Given the description of an element on the screen output the (x, y) to click on. 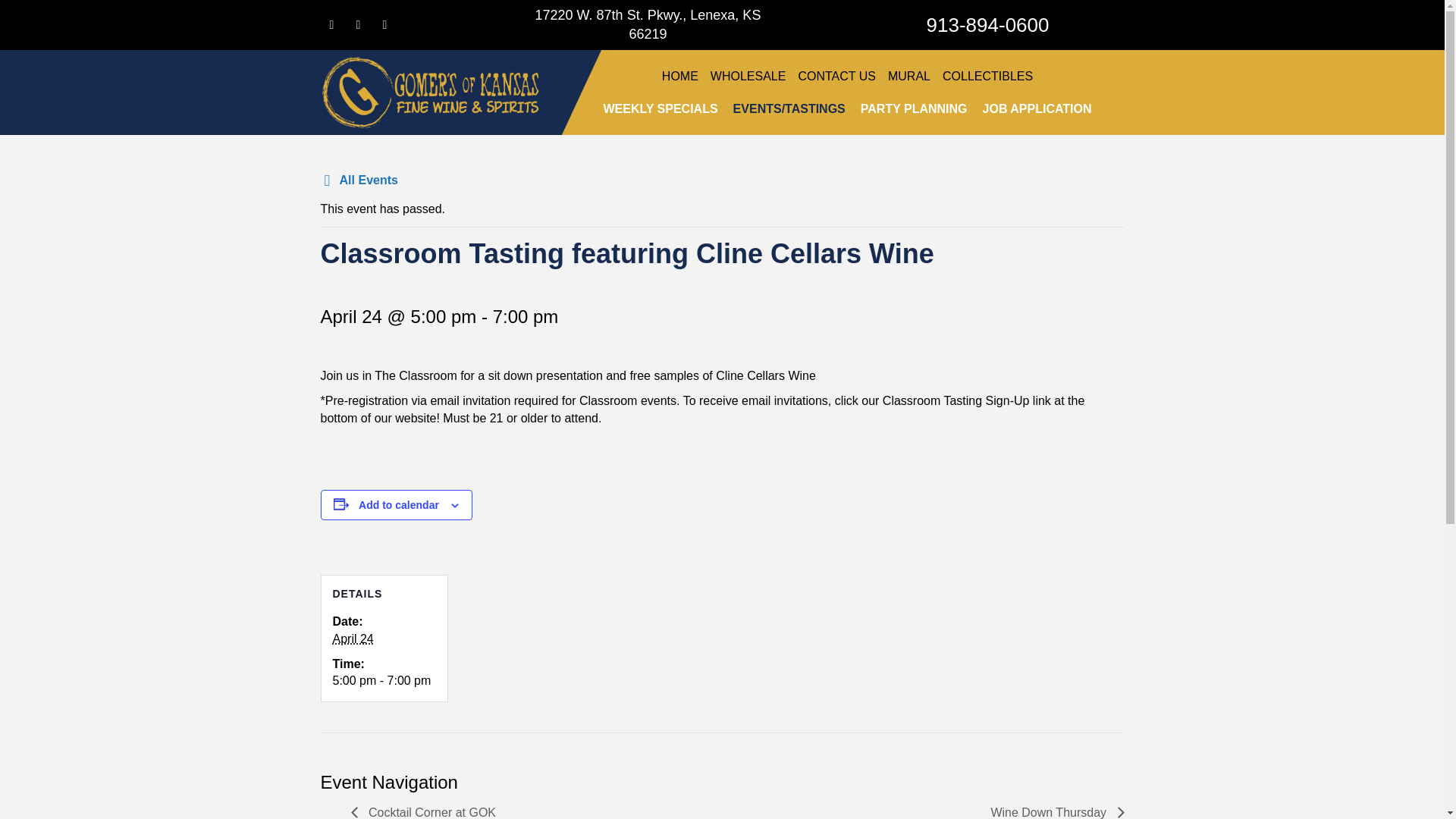
COLLECTIBLES (987, 75)
HOME (680, 75)
PARTY PLANNING (914, 108)
JOB APPLICATION (1037, 108)
WHOLESALE (748, 75)
Cocktail Corner at GOK (426, 812)
Gomers-of-Kansas (430, 92)
MURAL (909, 75)
Twitter (384, 24)
2024-04-24 (383, 681)
